Given the description of an element on the screen output the (x, y) to click on. 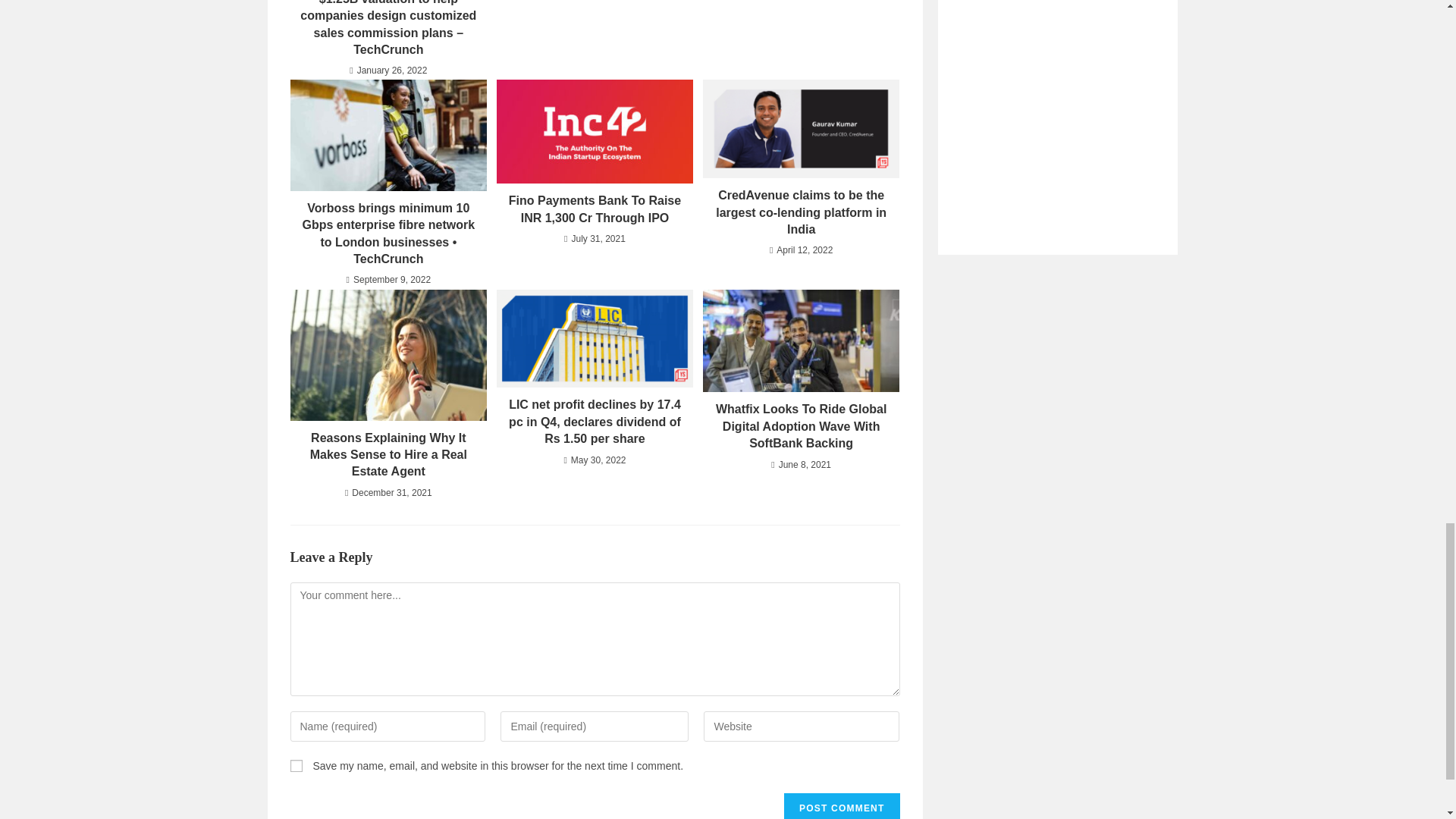
Fino Payments Bank To Raise INR 1,300 Cr Through IPO (594, 209)
Advertisement (1056, 105)
Post Comment (841, 806)
yes (295, 766)
Post Comment (841, 806)
